Given the description of an element on the screen output the (x, y) to click on. 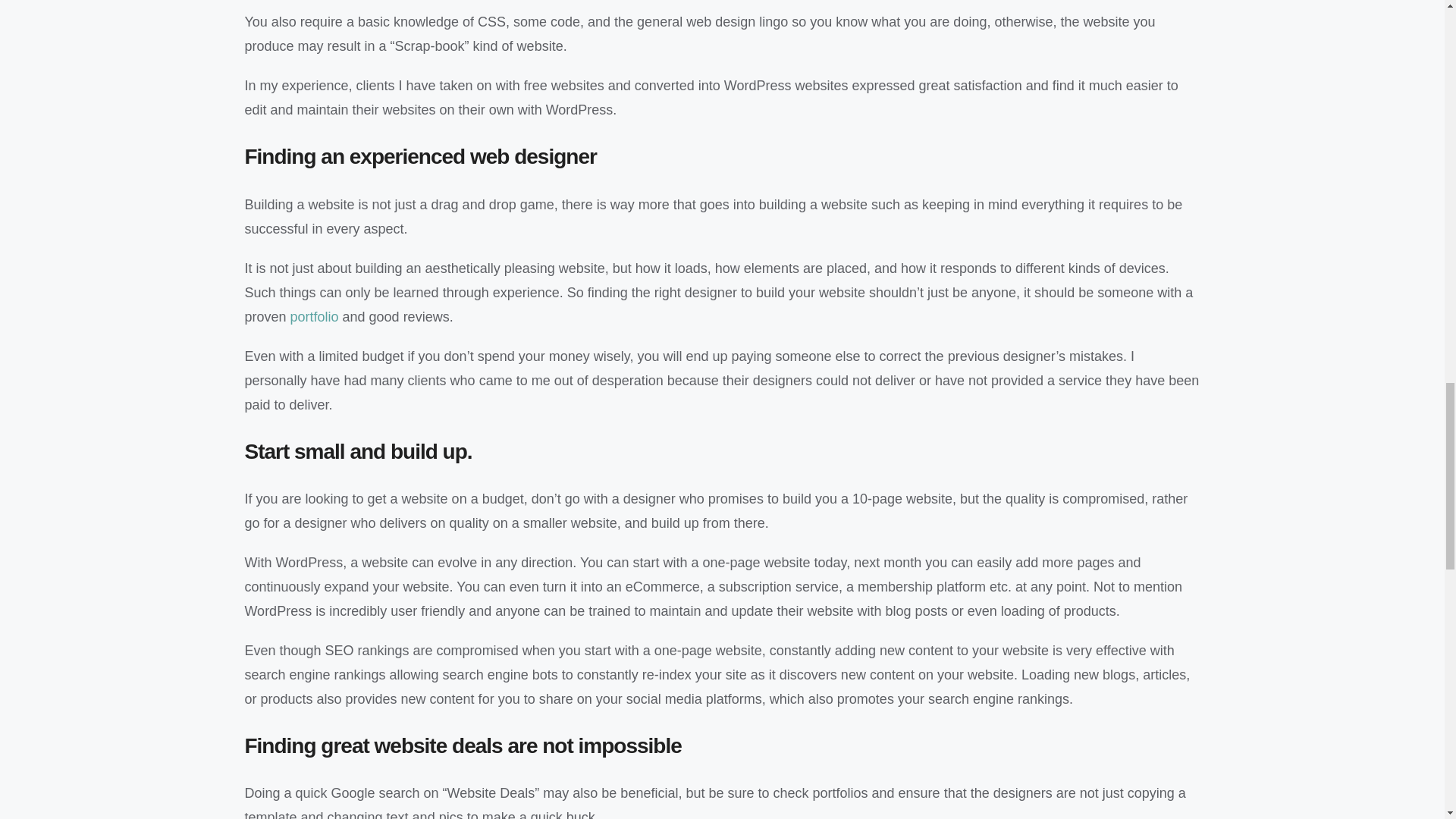
portfolio (313, 316)
